Given the description of an element on the screen output the (x, y) to click on. 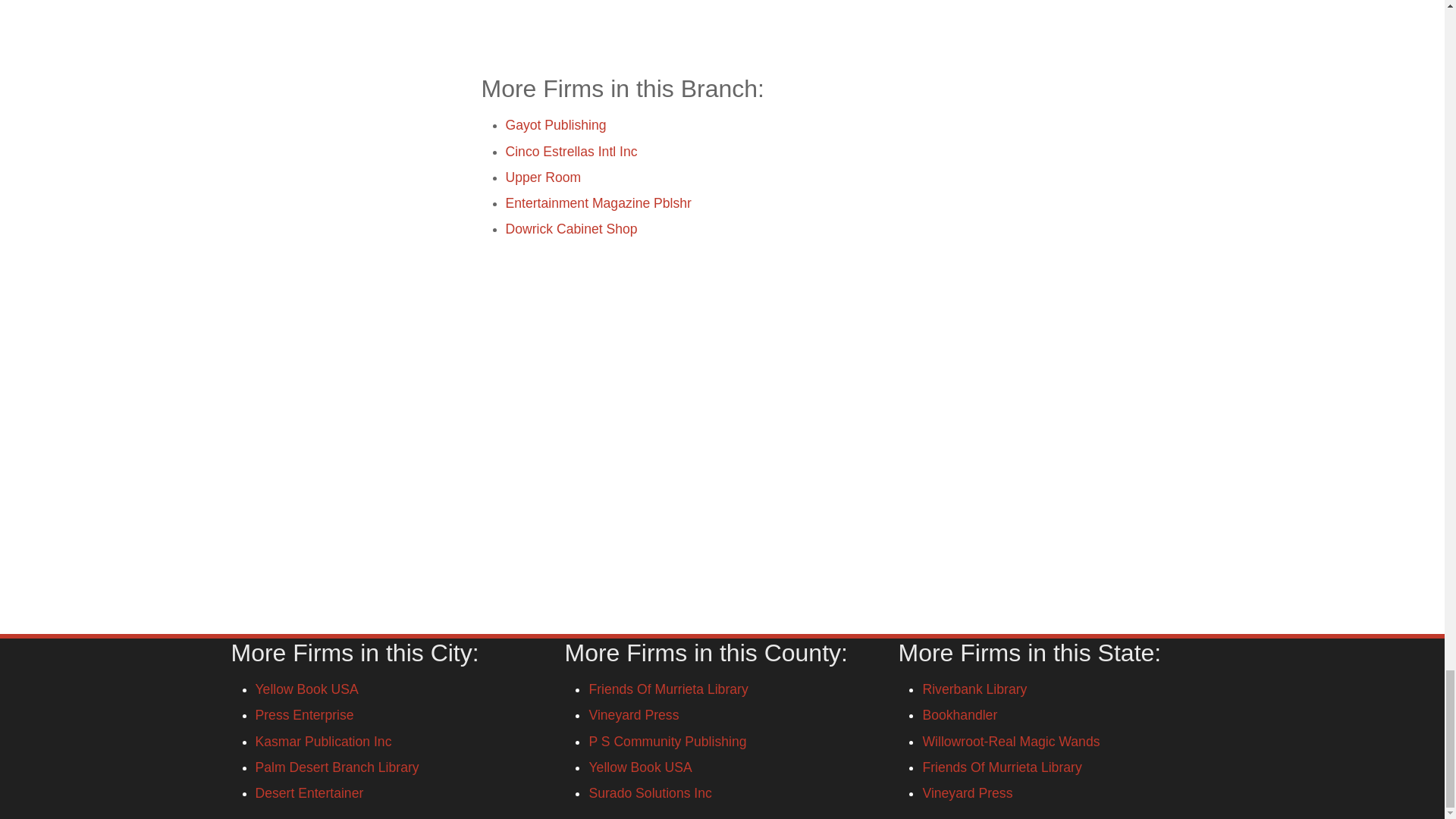
Entertainment Magazine Pblshr (597, 202)
Dowrick Cabinet Shop (571, 228)
Upper Room (542, 177)
Cinco Estrellas Intl Inc (571, 151)
Gayot Publishing (555, 124)
